Given the description of an element on the screen output the (x, y) to click on. 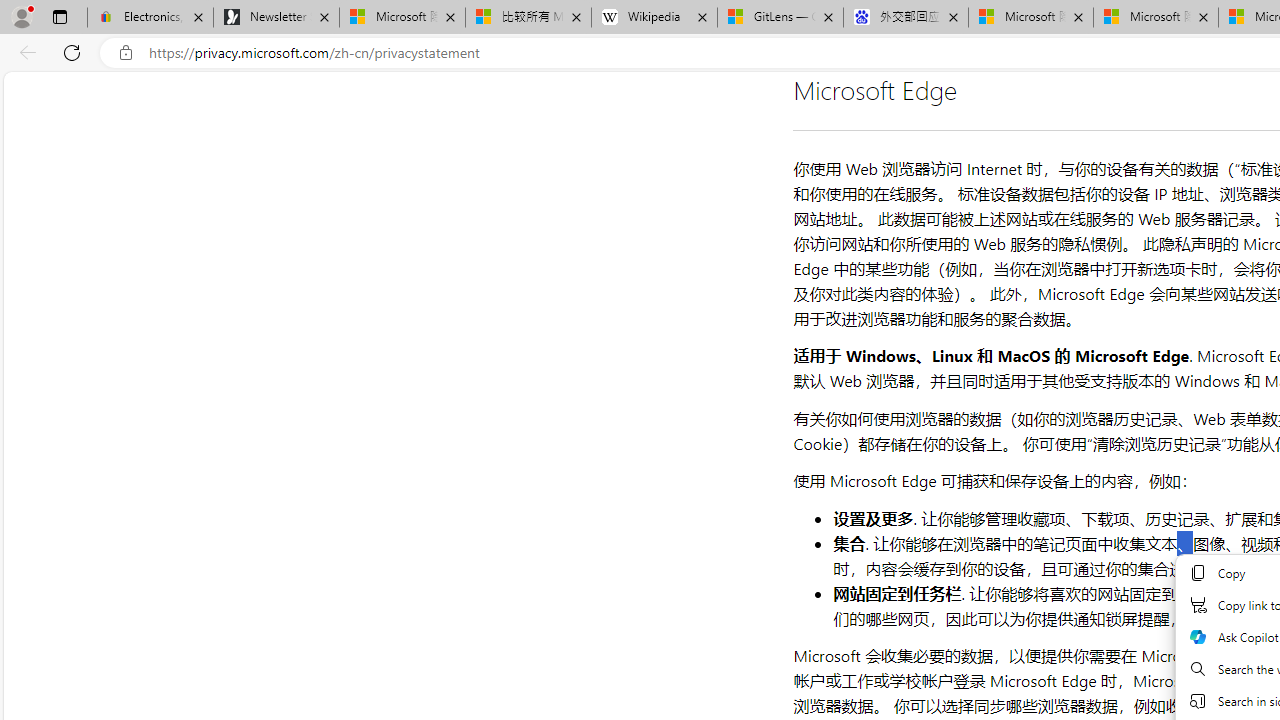
Electronics, Cars, Fashion, Collectibles & More | eBay (150, 17)
Wikipedia (653, 17)
Newsletter Sign Up (276, 17)
